Given the description of an element on the screen output the (x, y) to click on. 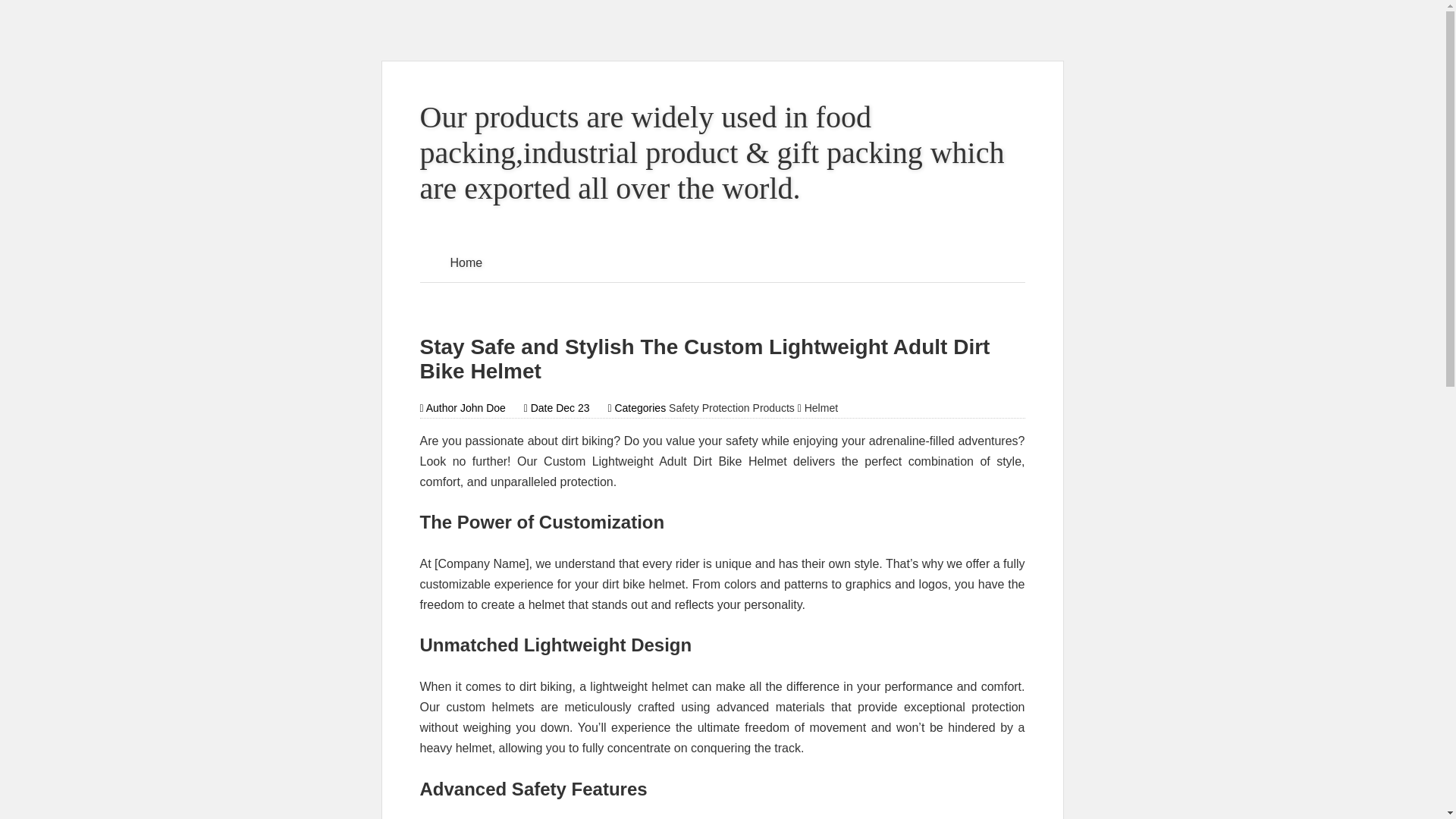
Safety Protection Products (731, 408)
Helmet (821, 408)
Home (466, 262)
